Given the description of an element on the screen output the (x, y) to click on. 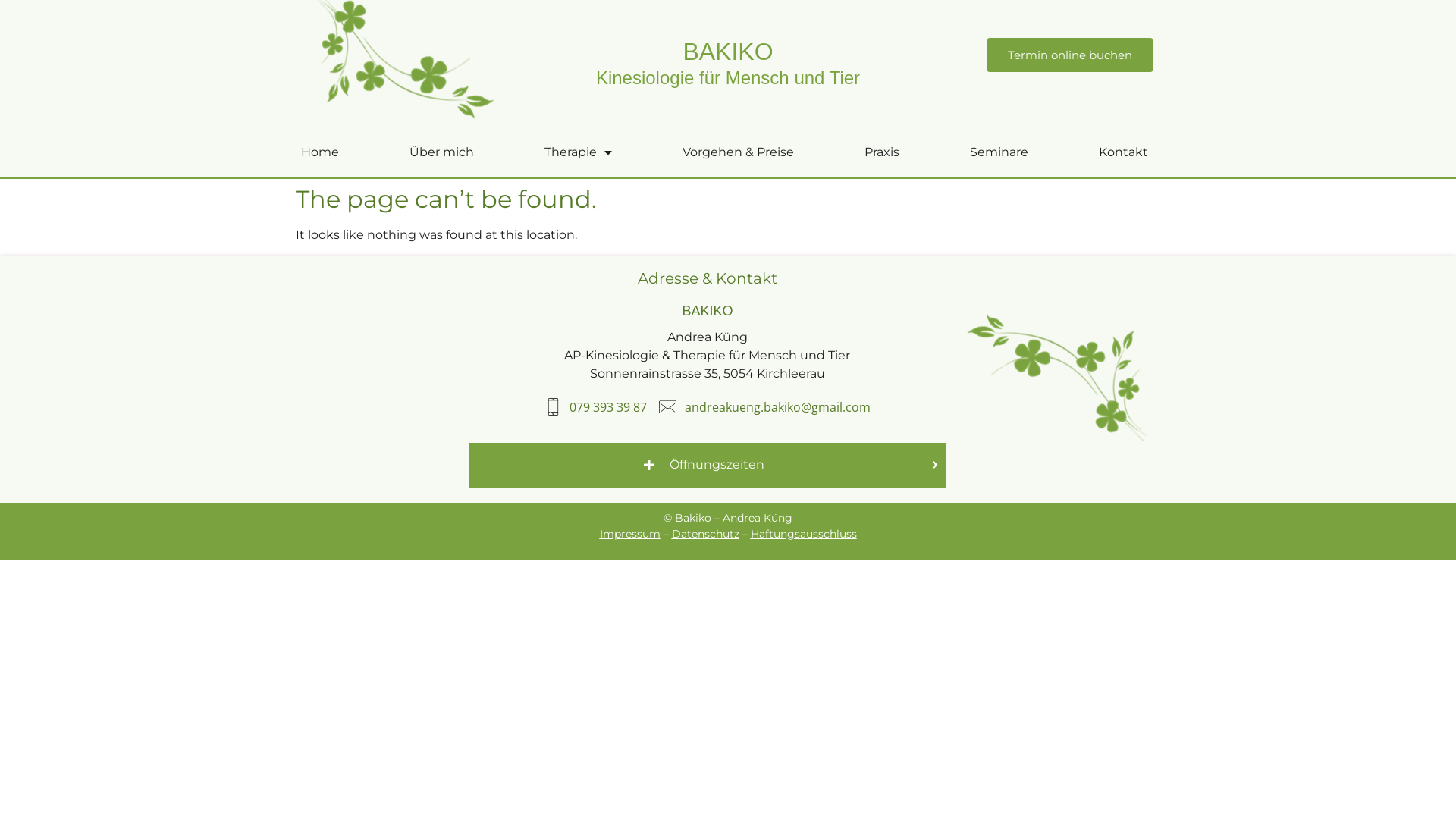
Home Element type: text (319, 151)
Haftungsausschluss Element type: text (803, 533)
Impressum Element type: text (629, 533)
Kontakt Element type: text (1123, 151)
andreakueng.bakiko@gmail.com Element type: text (764, 407)
Vorgehen & Preise Element type: text (737, 151)
Seminare Element type: text (998, 151)
Datenschutz Element type: text (705, 533)
079 393 39 87 Element type: text (595, 407)
Praxis Element type: text (881, 151)
Termin online buchen Element type: text (1069, 54)
Therapie Element type: text (577, 151)
